Given the description of an element on the screen output the (x, y) to click on. 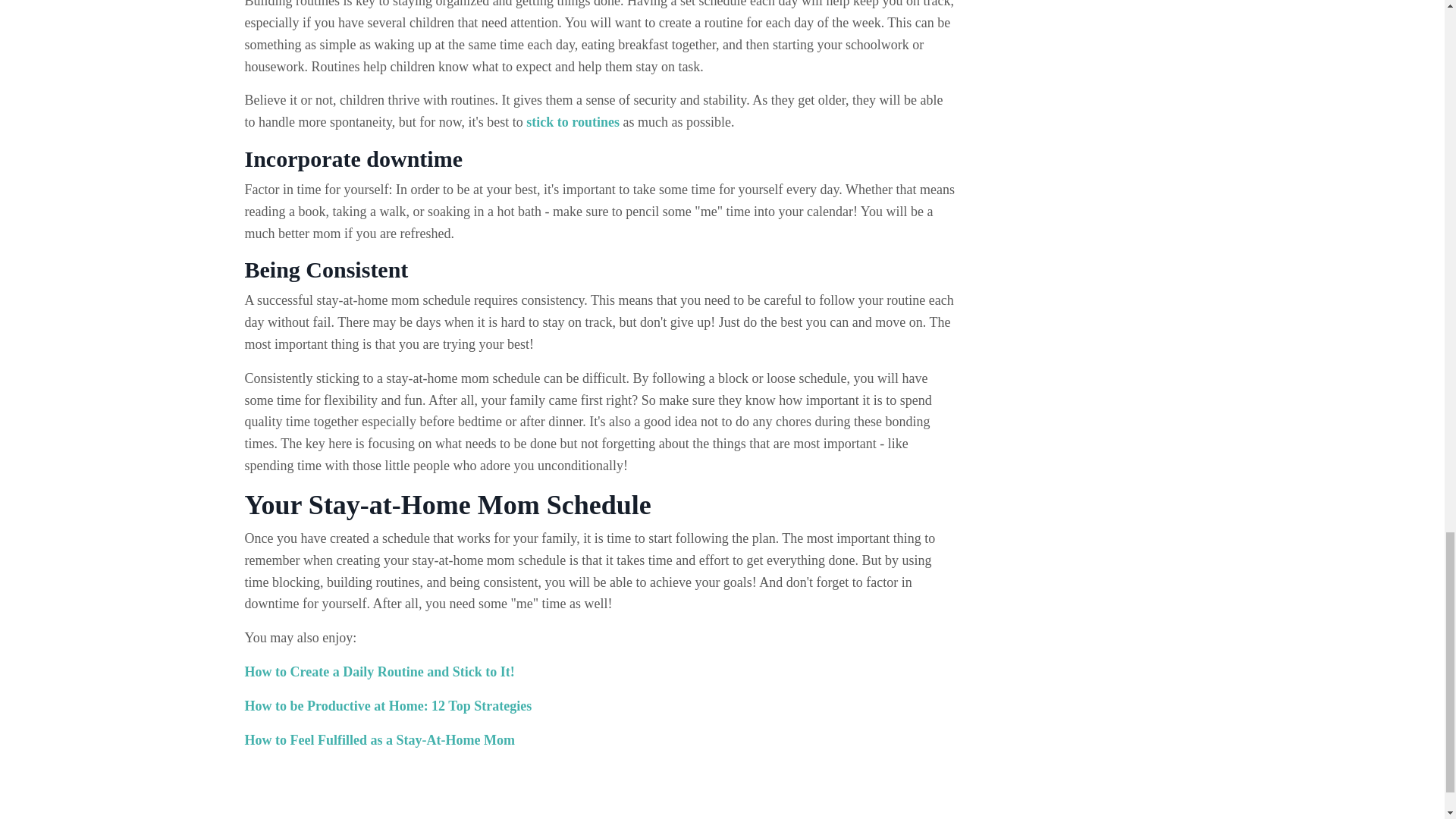
How to be Productive at Home: 12 Top Strategies (387, 705)
How to Feel Fulfilled as a Stay-At-Home Mom (378, 739)
How to Create a Daily Routine and Stick to It! (378, 671)
stick to routines (572, 121)
